Given the description of an element on the screen output the (x, y) to click on. 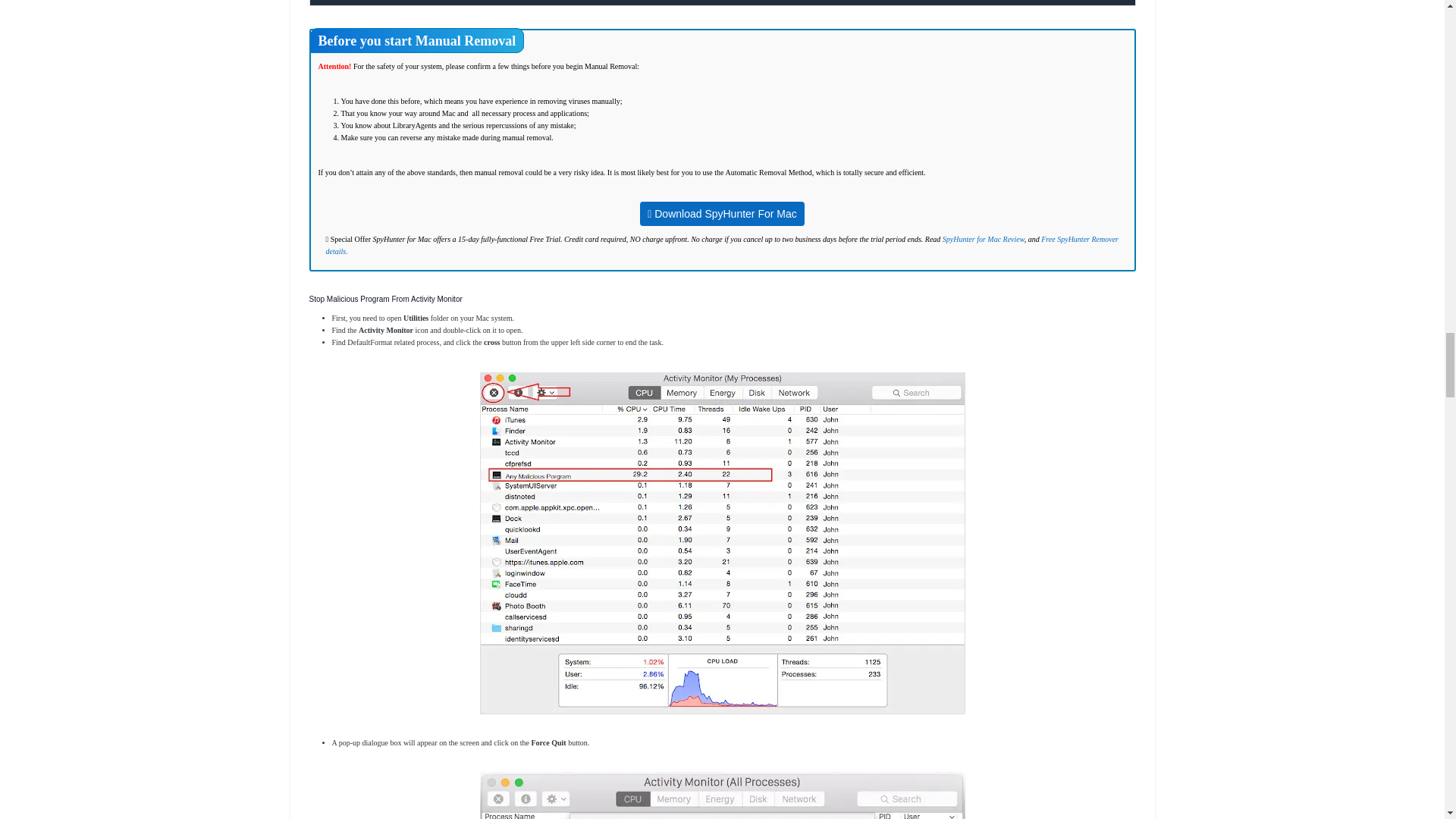
Download SpyHunter For Mac (722, 213)
SpyHunter for Mac Review (983, 239)
Download SpyHunter For Mac (722, 214)
